Given the description of an element on the screen output the (x, y) to click on. 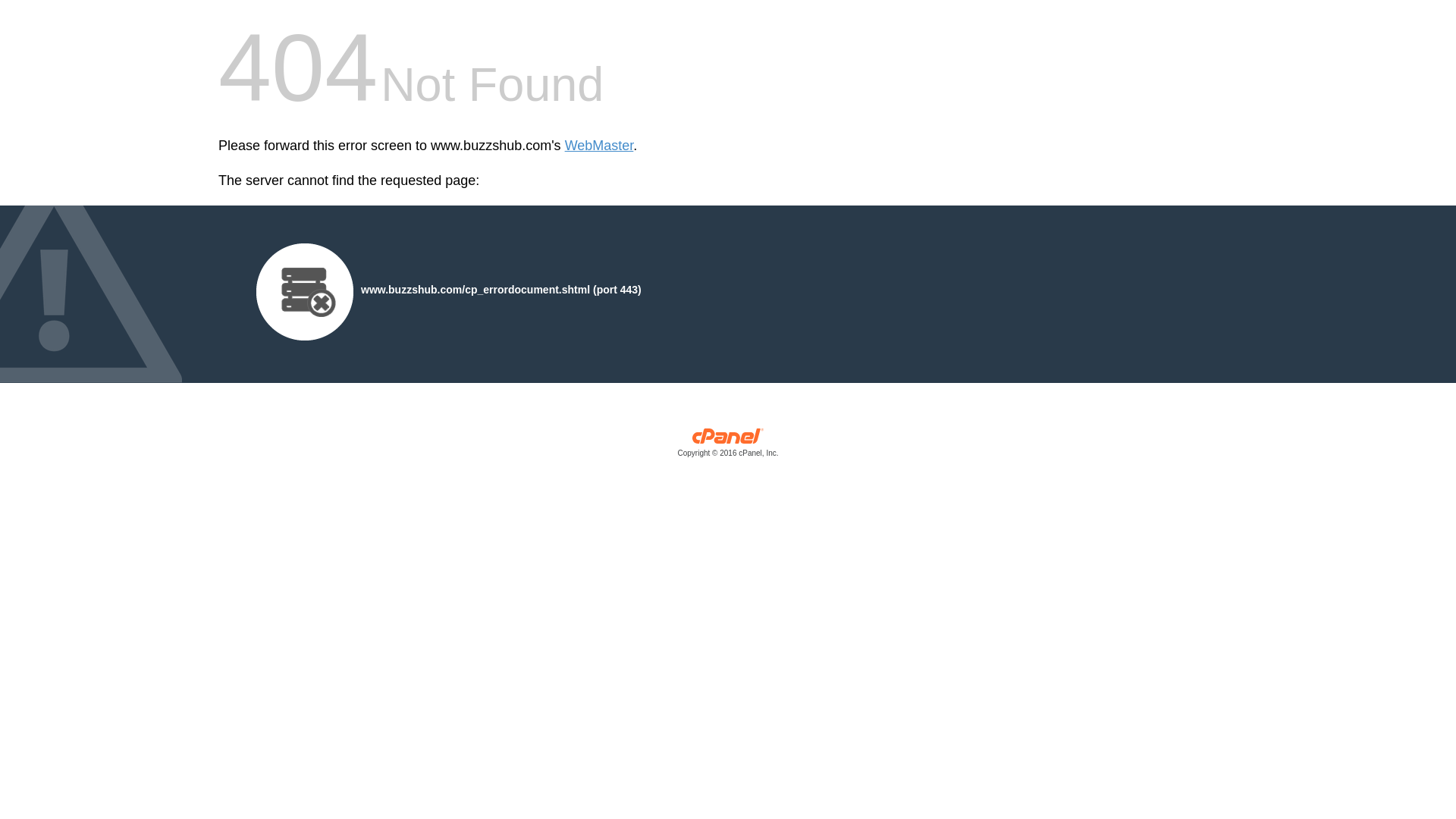
cPanel, Inc. (727, 446)
WebMaster (598, 145)
